Given the description of an element on the screen output the (x, y) to click on. 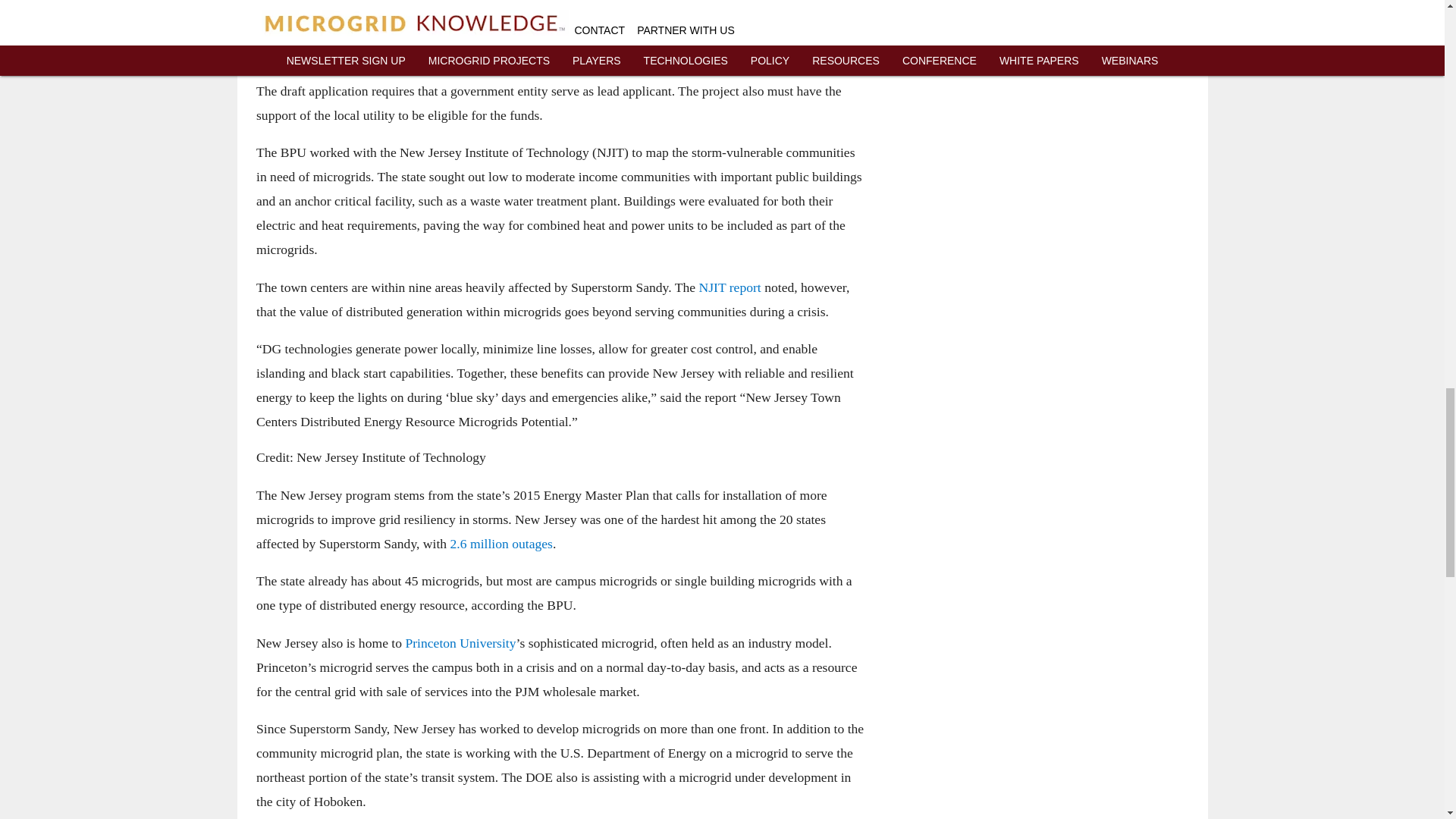
Princeton University (459, 642)
2.6 million outages (500, 543)
NJIT report (729, 287)
